Given the description of an element on the screen output the (x, y) to click on. 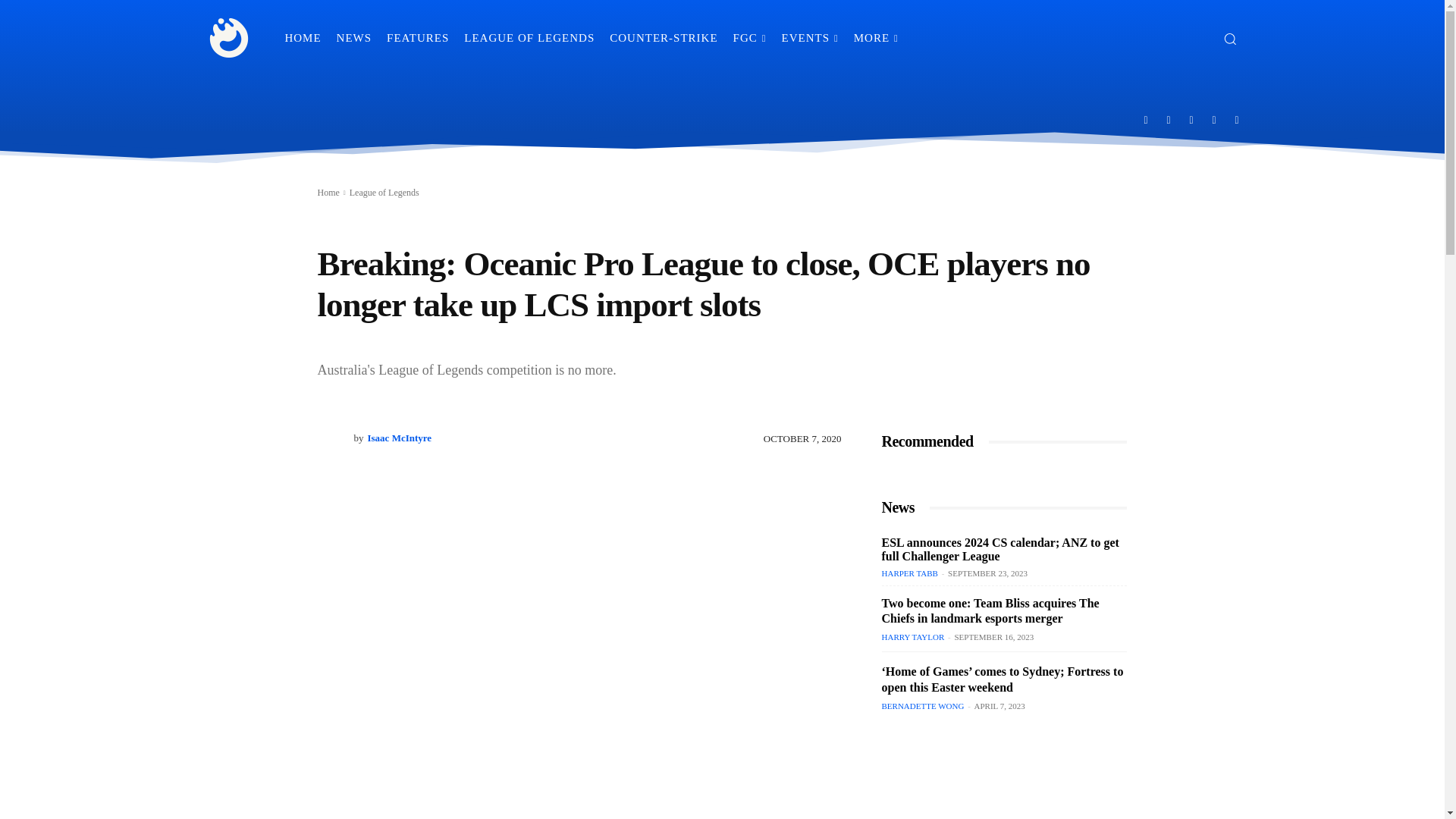
Twitter (1214, 119)
Instagram (1169, 119)
Twitch (1191, 119)
Snowball Esports (228, 37)
Facebook (1145, 119)
Youtube (1237, 119)
